Given the description of an element on the screen output the (x, y) to click on. 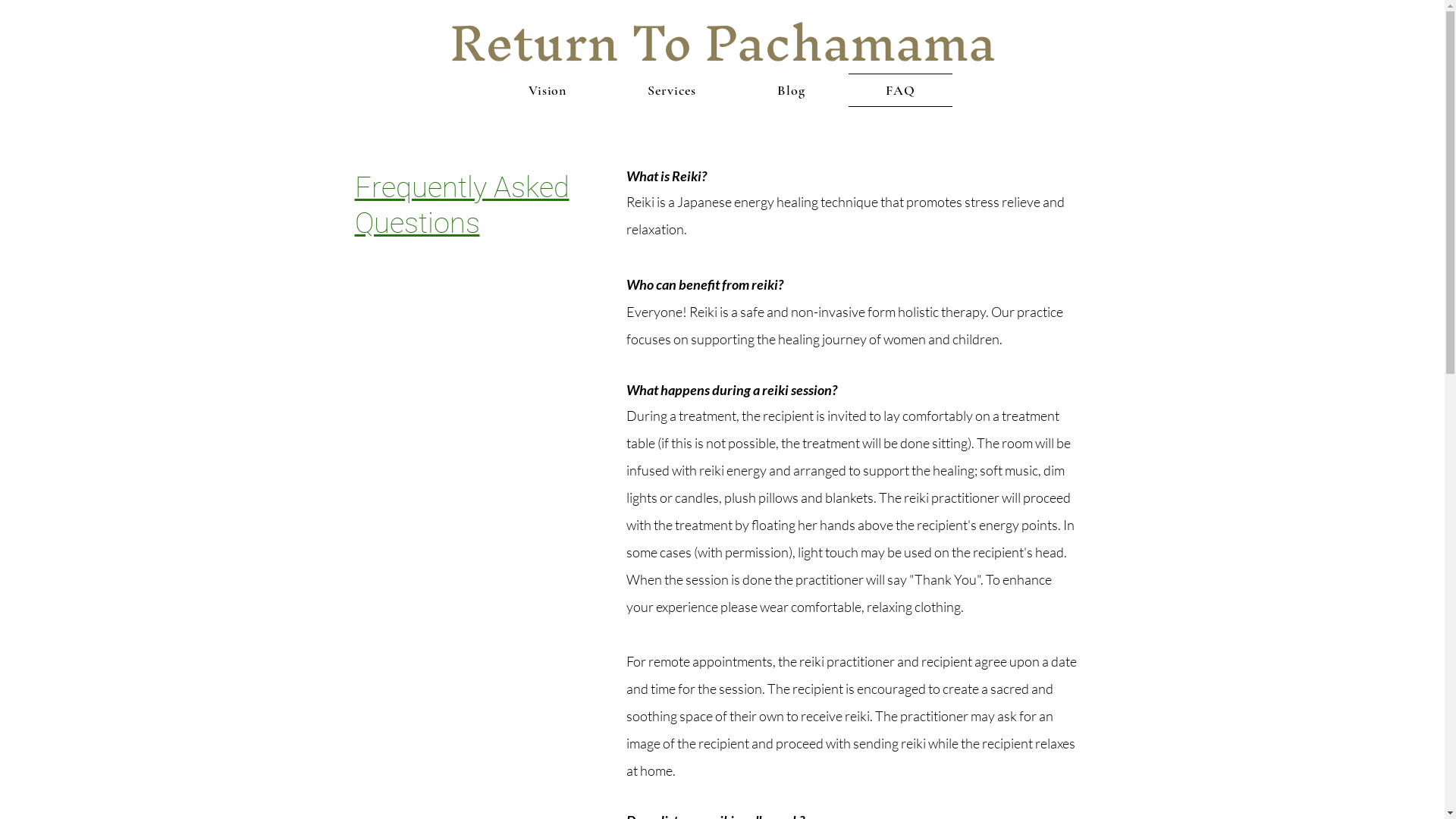
Vision Element type: text (547, 89)
Services Element type: text (672, 89)
Blog Element type: text (791, 89)
FAQ Element type: text (900, 89)
